Given the description of an element on the screen output the (x, y) to click on. 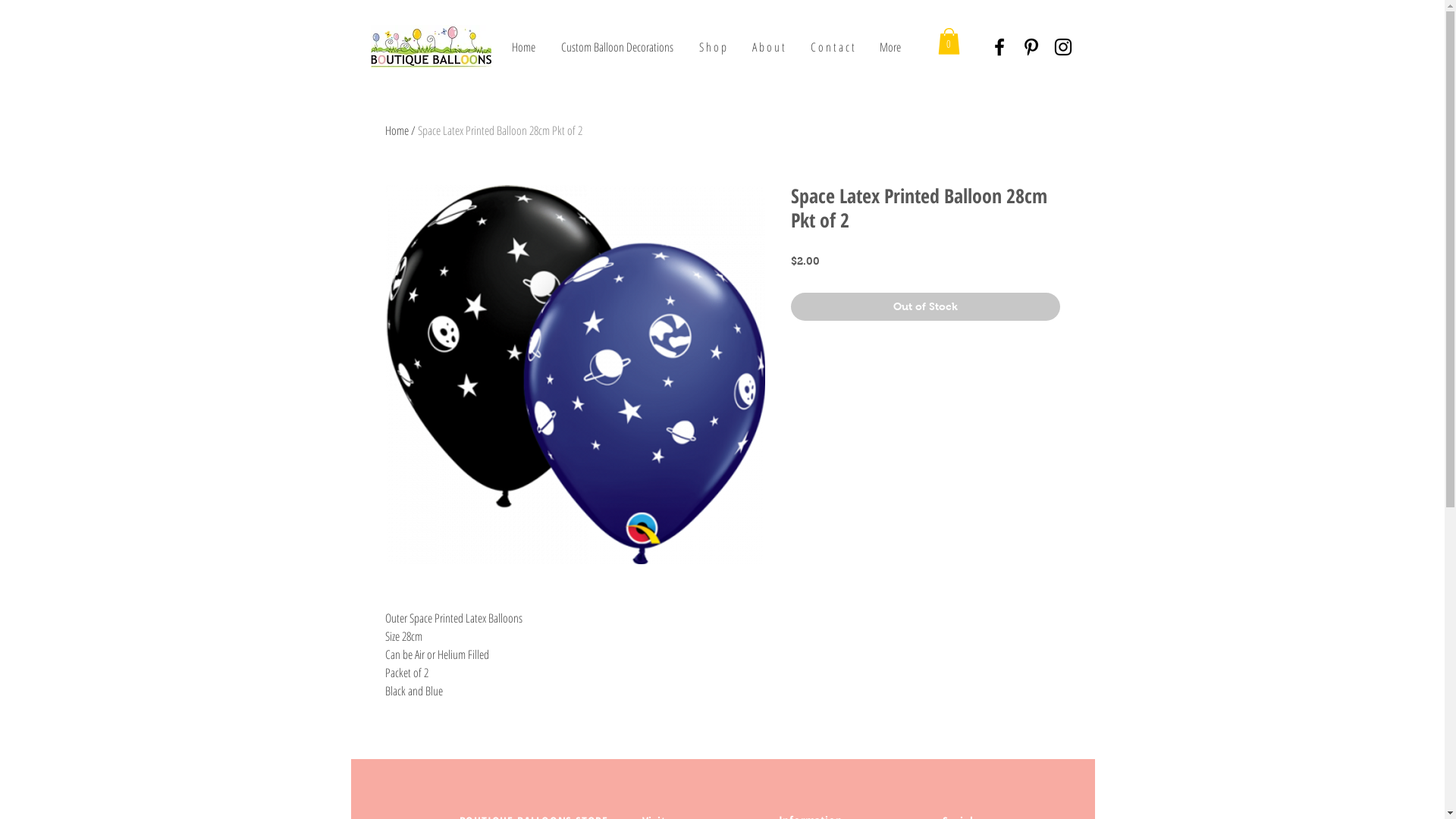
S h o p Element type: text (711, 46)
0 Element type: text (948, 41)
Custom Balloon Decorations Element type: text (616, 46)
Home Element type: text (396, 130)
A b o u t Element type: text (767, 46)
Home Element type: text (523, 46)
Out of Stock Element type: text (924, 306)
Space Latex Printed Balloon 28cm Pkt of 2 Element type: text (499, 130)
C o n t a c t Element type: text (832, 46)
